Given the description of an element on the screen output the (x, y) to click on. 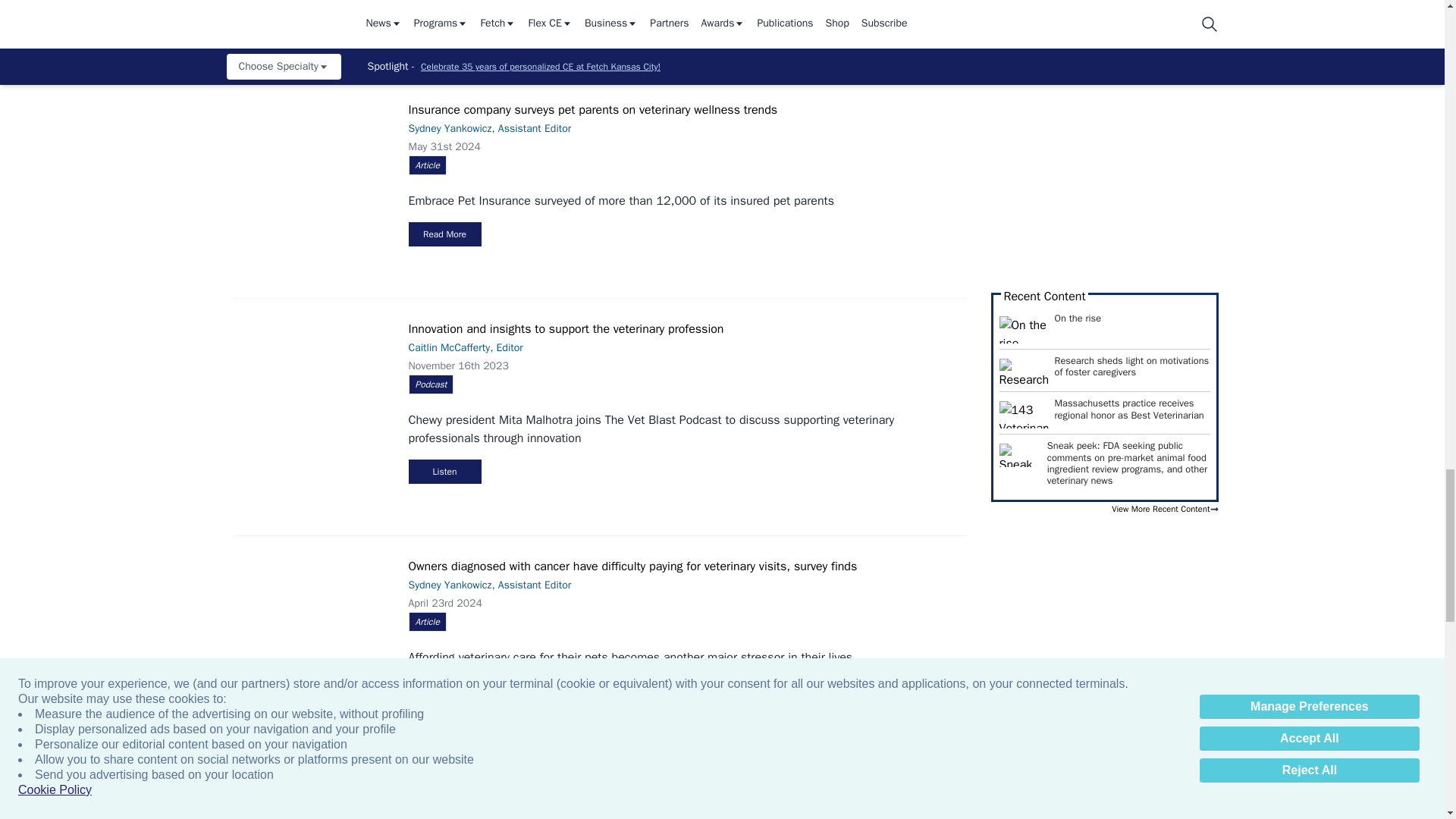
Innovation and insights to support the veterinary profession (317, 367)
